Given the description of an element on the screen output the (x, y) to click on. 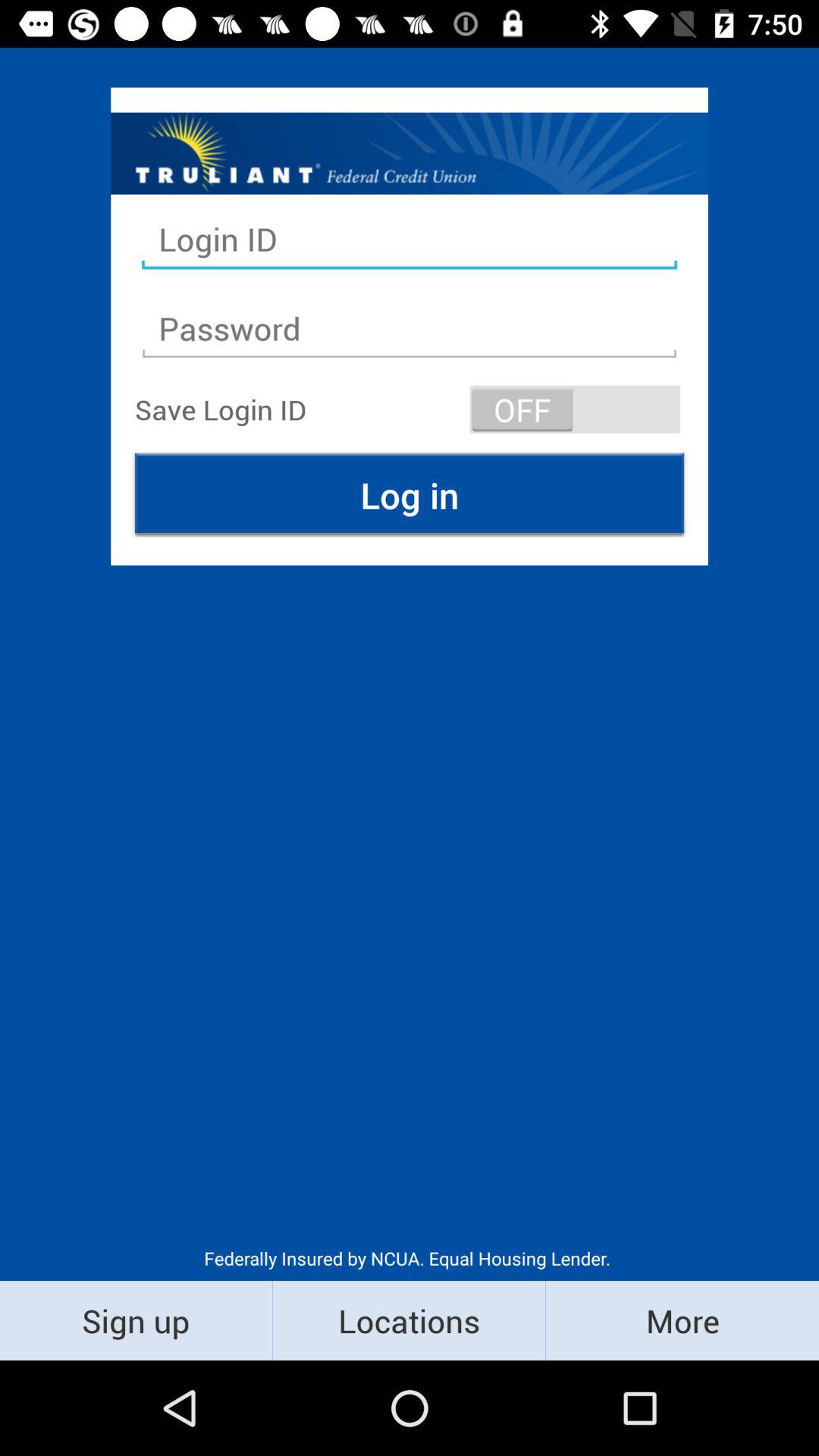
open item below the federally insured by (409, 1320)
